Given the description of an element on the screen output the (x, y) to click on. 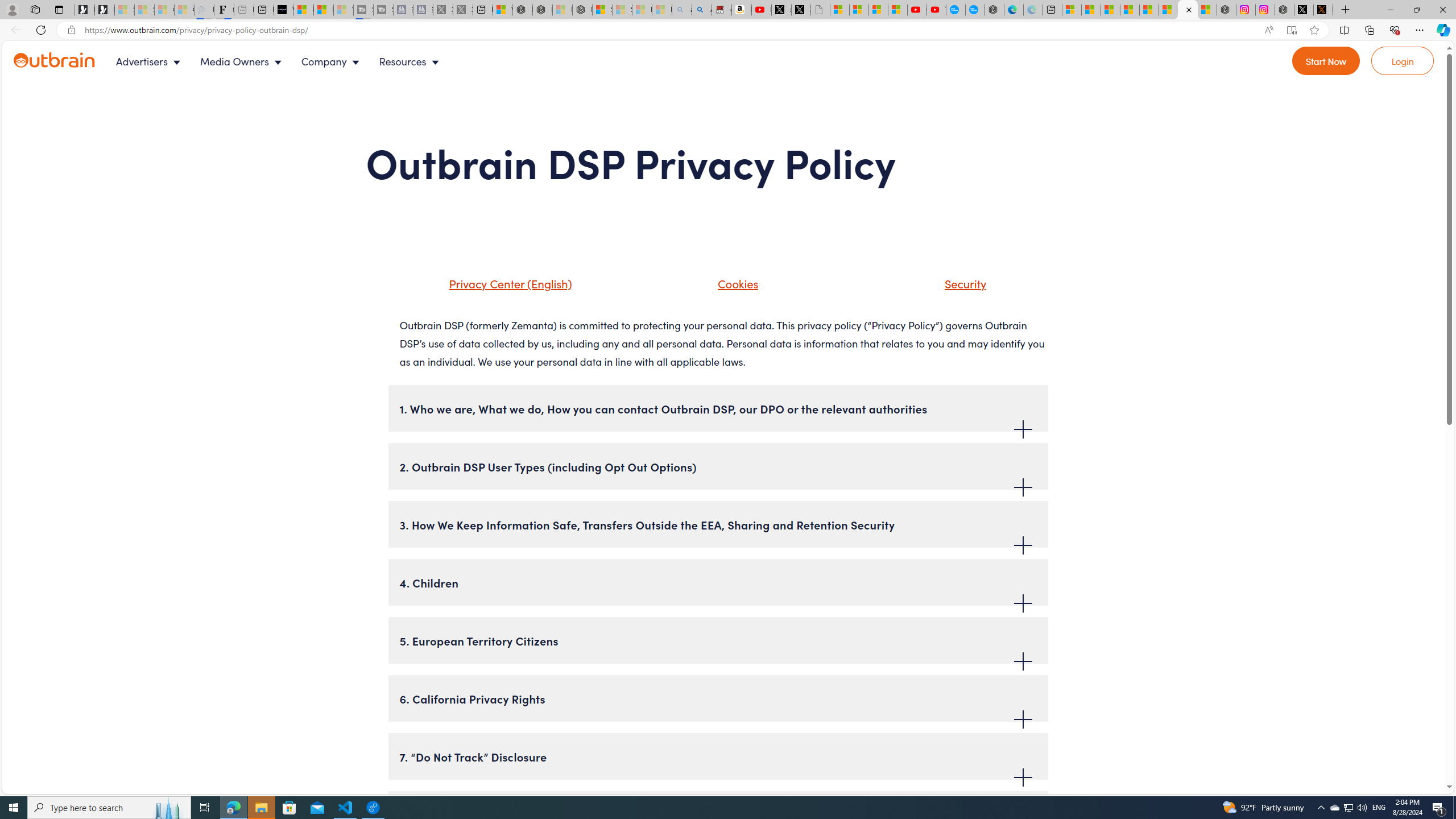
2. Outbrain DSP User Types (including Opt Out Options) (717, 466)
Security (963, 282)
Advertisers (151, 61)
Outbrain logo - link to homepage (67, 61)
